Given the description of an element on the screen output the (x, y) to click on. 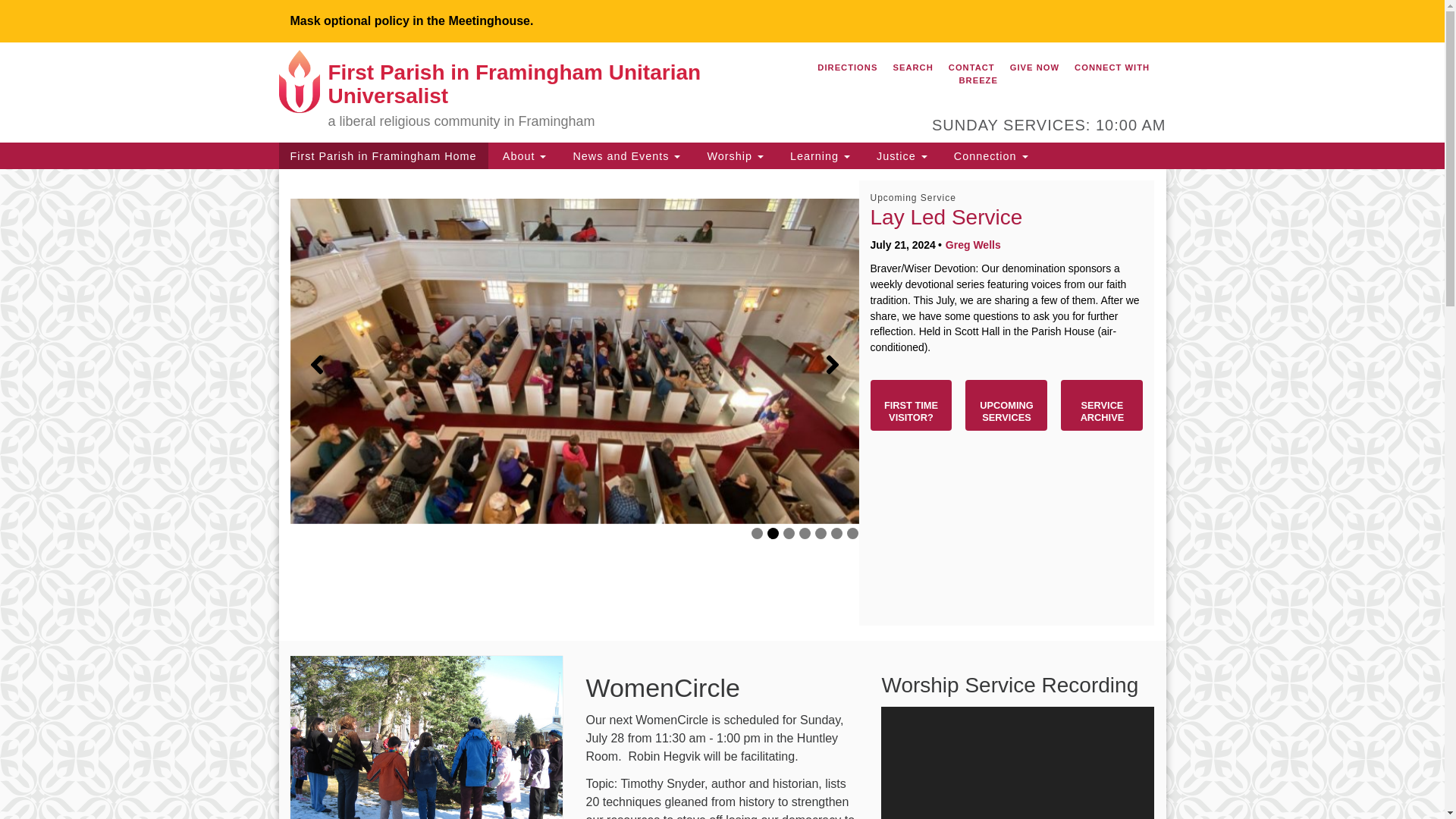
 Worship (732, 155)
First Parish in Framingham Home (383, 155)
DIRECTIONS (847, 67)
 News and Events (624, 155)
 About (522, 155)
GIVE NOW (1034, 67)
SEARCH (911, 67)
CONTACT (971, 67)
About (522, 155)
CONNECT WITH BREEZE (1054, 73)
First Parish in Framingham Home (383, 155)
